Given the description of an element on the screen output the (x, y) to click on. 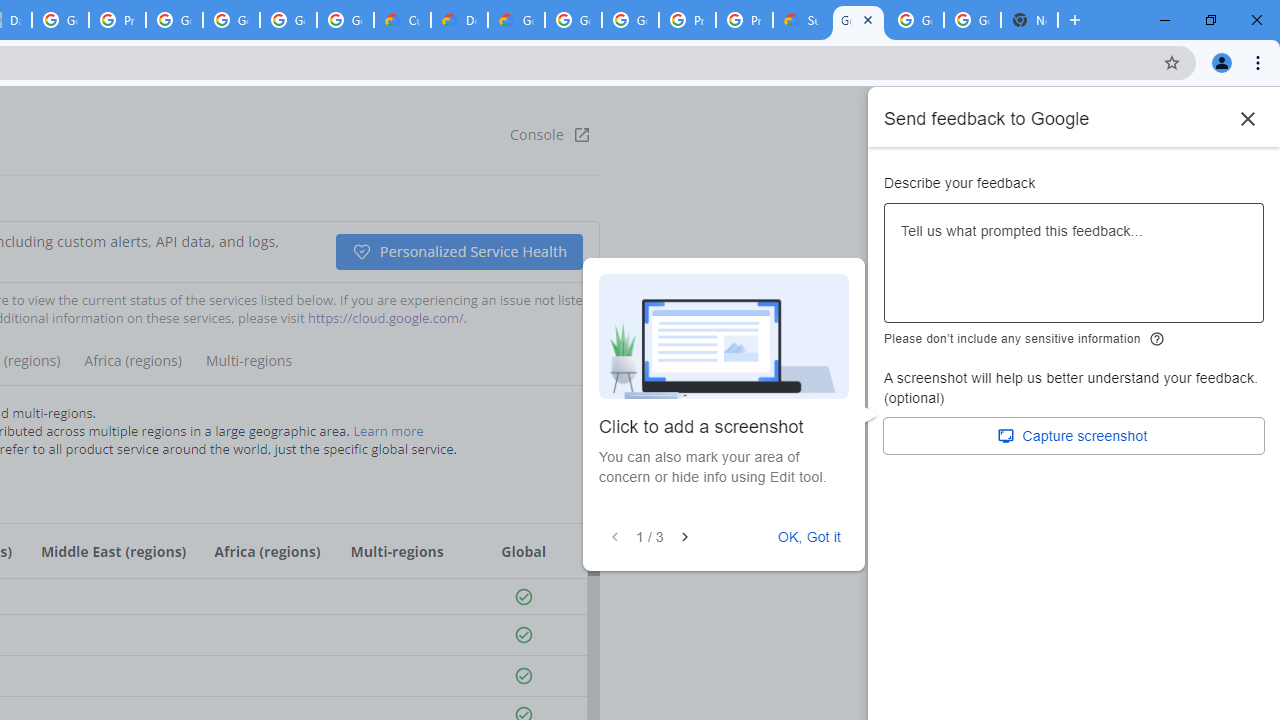
Personalized Service Health (458, 252)
Describe your feedback (1074, 271)
Next (683, 537)
Google Cloud Platform (630, 20)
Google Workspace - Specific Terms (288, 20)
Next (684, 537)
Learn more (388, 430)
Previous (615, 537)
Support Hub | Google Cloud (801, 20)
